Given the description of an element on the screen output the (x, y) to click on. 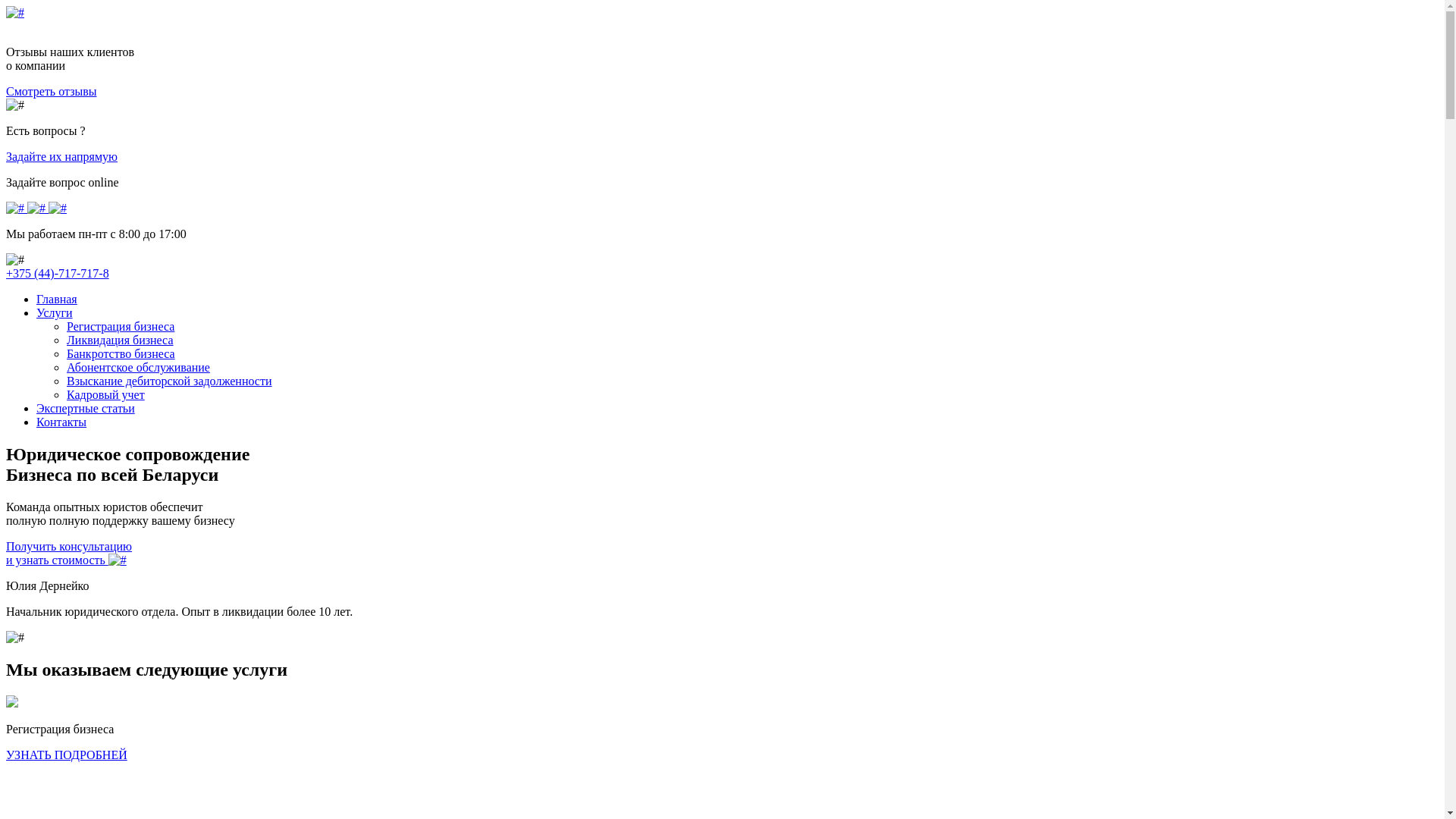
+375 (44)-717-717-8 Element type: text (57, 272)
